Given the description of an element on the screen output the (x, y) to click on. 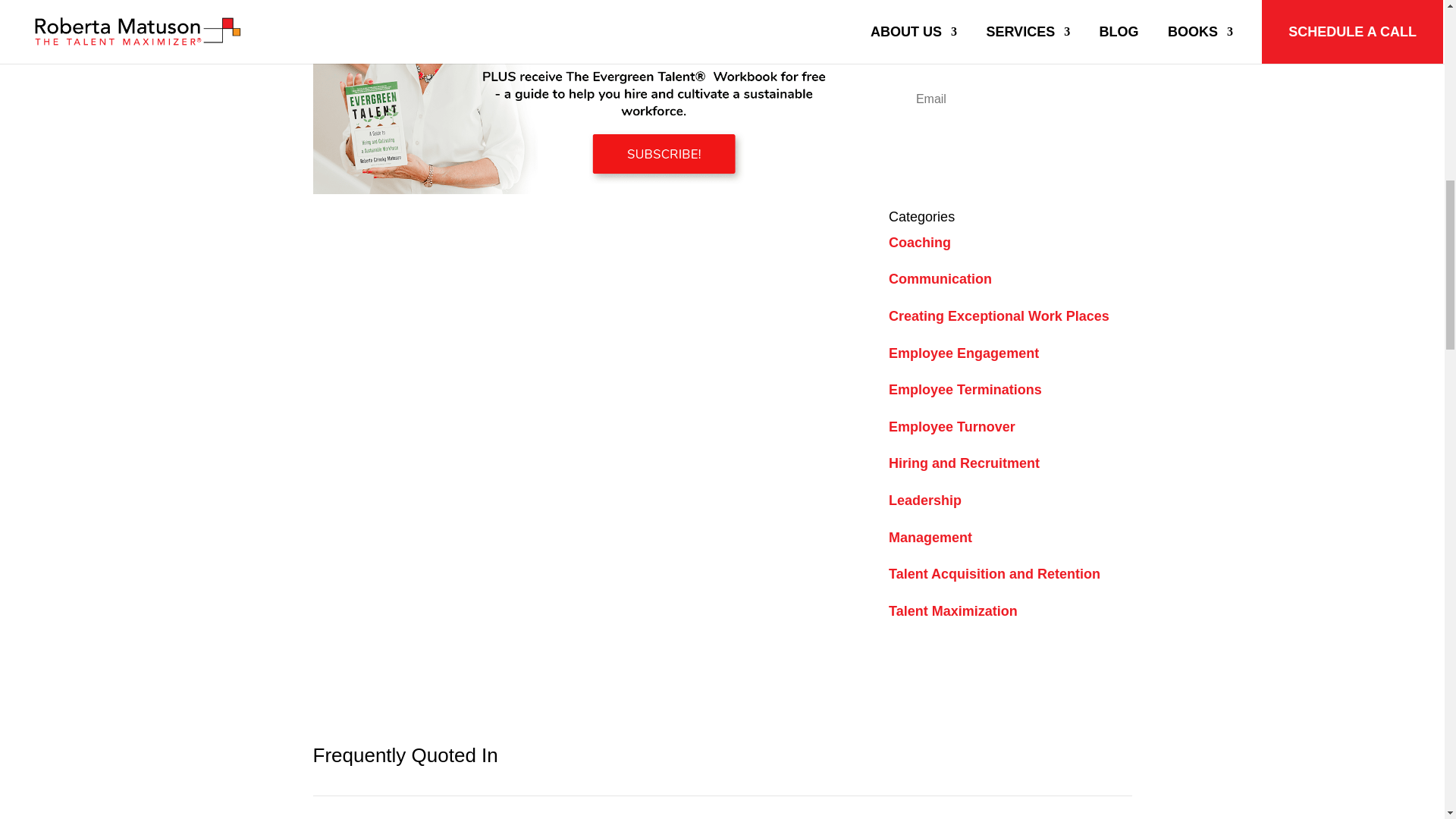
Employee Terminations (965, 389)
RM-JohnsonBox- (578, 97)
Coaching (919, 242)
Creating Exceptional Work Places (998, 315)
Subscribe (1009, 149)
Employee Engagement (963, 353)
Employee Turnover (951, 426)
Leadership (924, 500)
Talent Maximization (952, 611)
Hiring and Recruitment (963, 462)
